Given the description of an element on the screen output the (x, y) to click on. 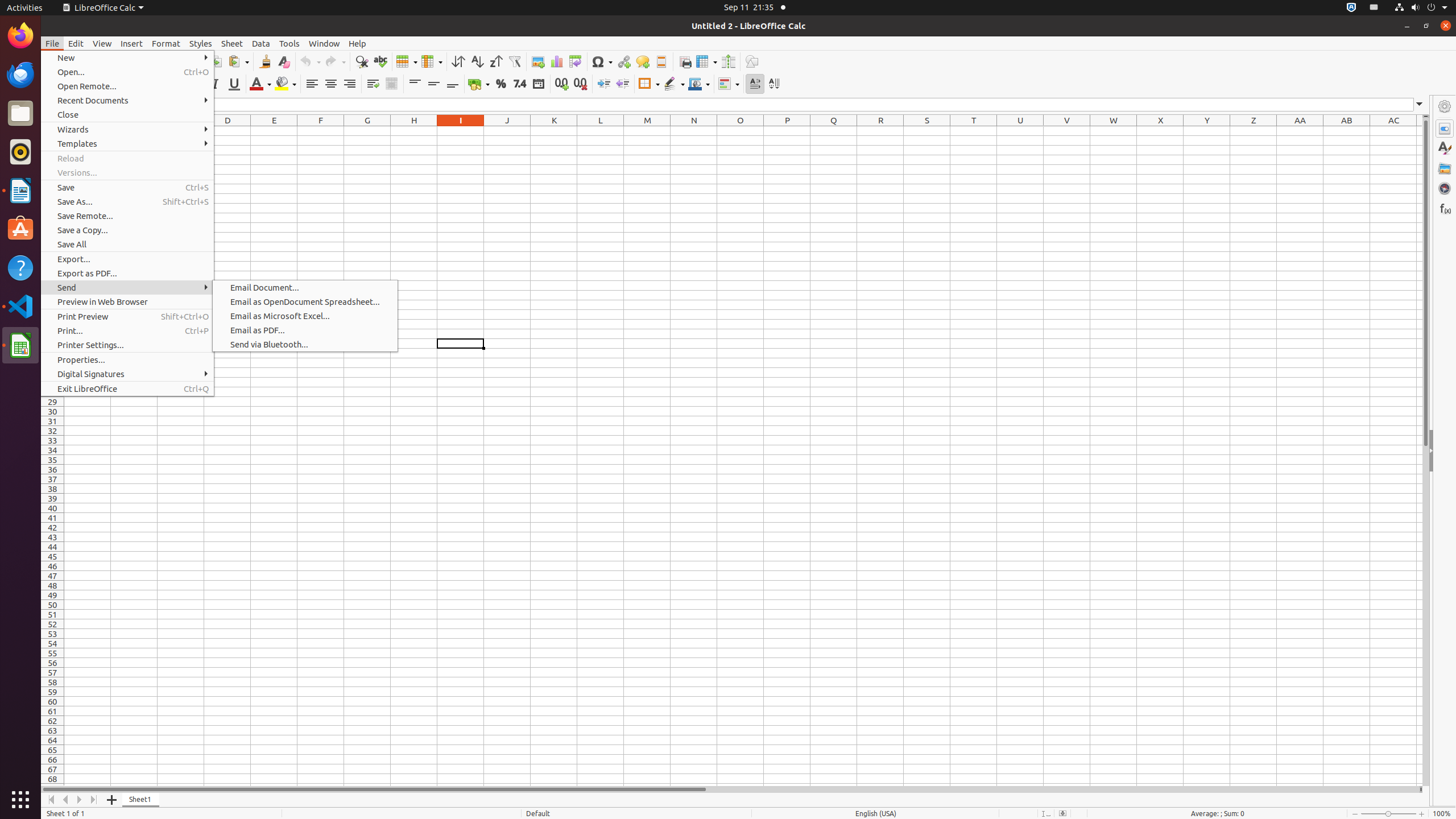
Y1 Element type: table-cell (1206, 130)
Vertical scroll bar Element type: scroll-bar (1425, 451)
Edit Element type: menu (75, 43)
Draw Functions Element type: toggle-button (751, 61)
G1 Element type: table-cell (367, 130)
